Given the description of an element on the screen output the (x, y) to click on. 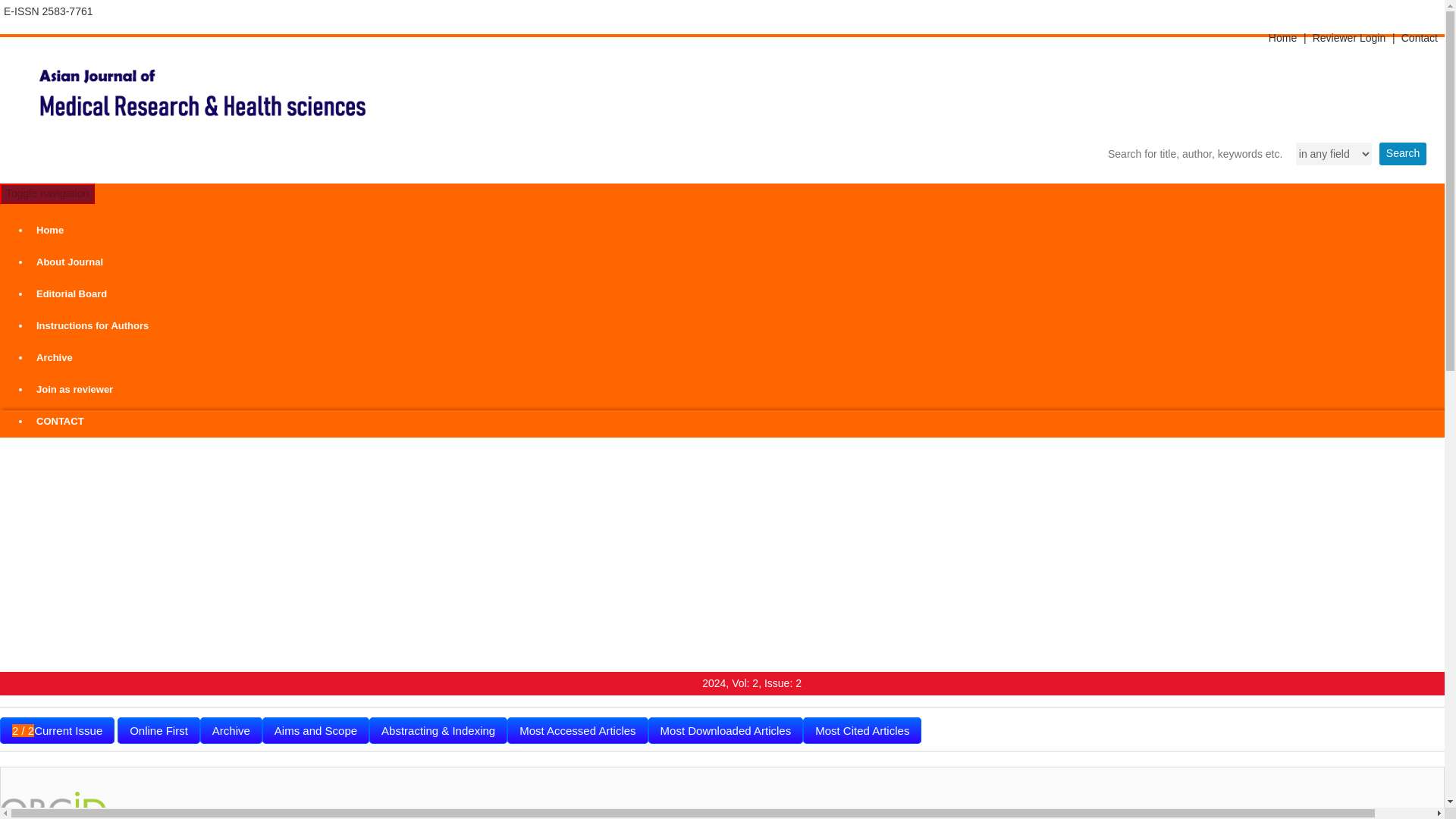
Most Accessed Articles (576, 730)
Search (1402, 153)
CONTACT (737, 421)
Archive (231, 730)
Contact (1419, 37)
Search (1402, 153)
Online First (158, 730)
Instructions for Authors (737, 326)
Search (1402, 153)
Home (737, 230)
